Given the description of an element on the screen output the (x, y) to click on. 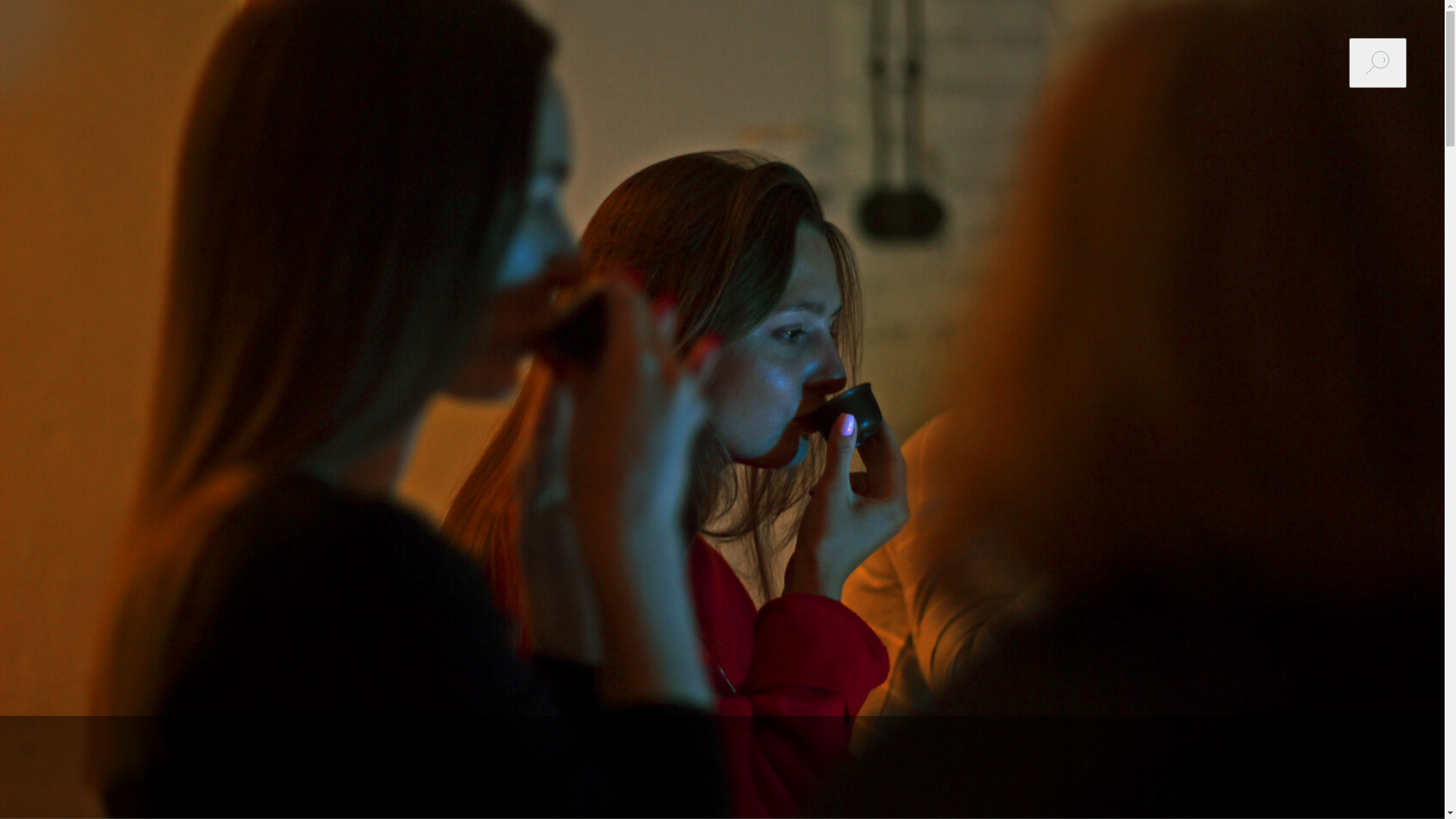
Phone Element type: text (94, 708)
+375 44 564-27-68 Element type: text (821, 335)
Telegram Element type: text (722, 667)
Mail Element type: text (30, 708)
